Given the description of an element on the screen output the (x, y) to click on. 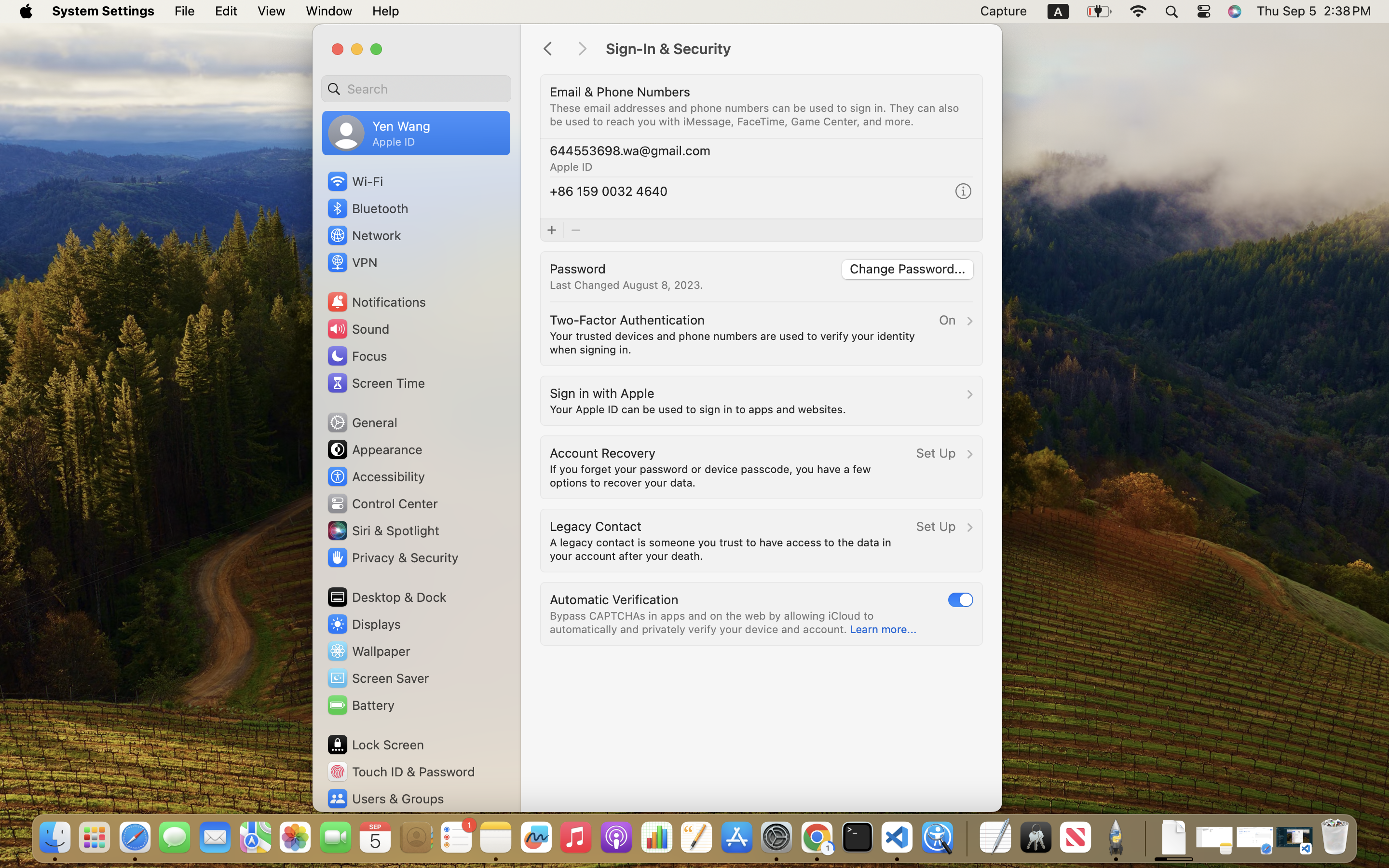
Sign-In & Security Element type: AXStaticText (793, 49)
Password Element type: AXStaticText (577, 267)
Screen Time Element type: AXStaticText (375, 382)
Control Center Element type: AXStaticText (381, 503)
Siri & Spotlight Element type: AXStaticText (382, 530)
